Given the description of an element on the screen output the (x, y) to click on. 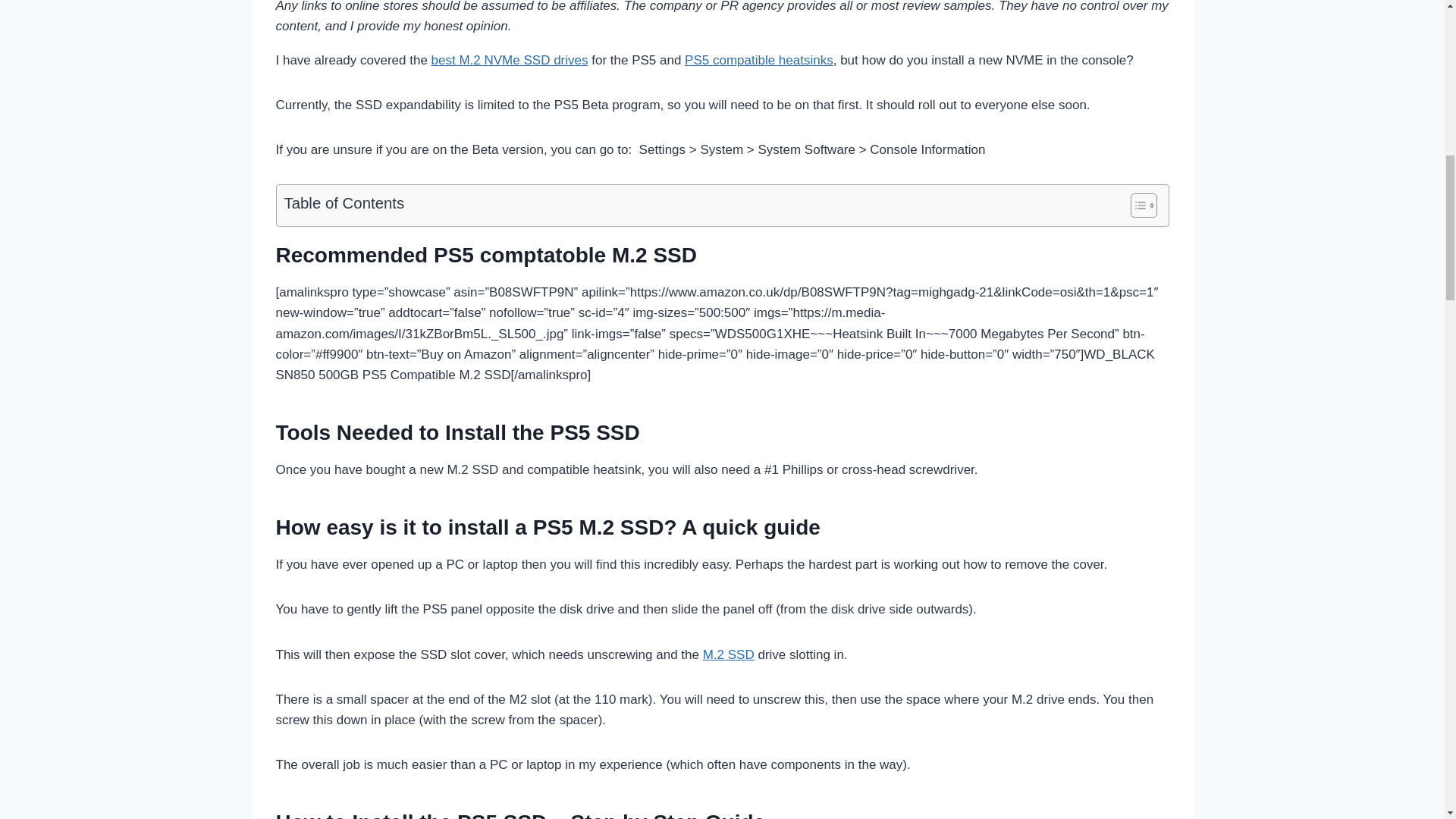
M.2 SSD (728, 654)
PS5 compatible heatsinks (758, 60)
best M.2 NVMe SSD drives (509, 60)
